Given the description of an element on the screen output the (x, y) to click on. 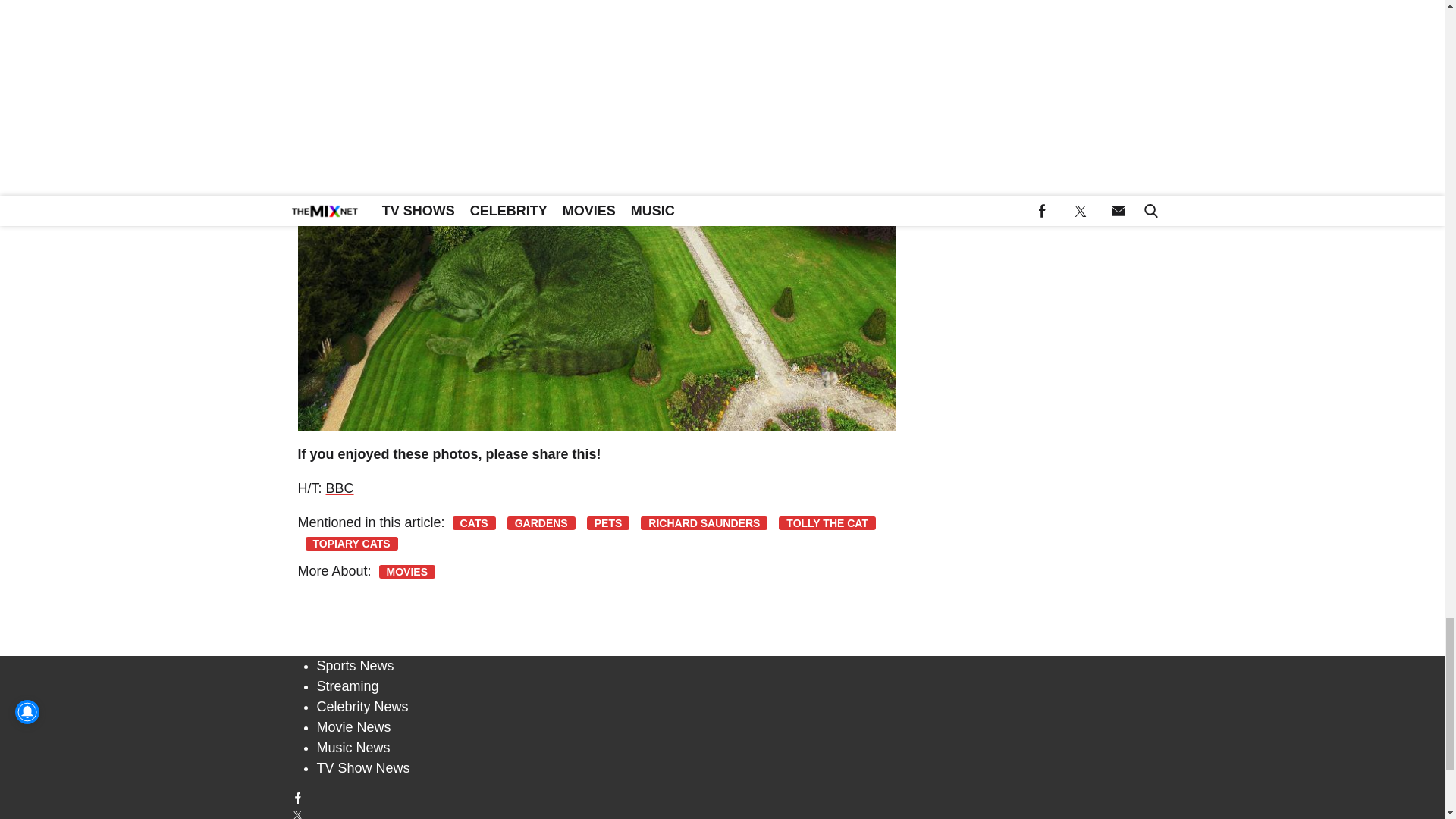
MOVIES (406, 571)
RICHARD SAUNDERS (703, 522)
BBC (339, 488)
TOLLY THE CAT (827, 522)
CATS (474, 522)
TOPIARY CATS (350, 543)
GARDENS (540, 522)
PETS (608, 522)
